Given the description of an element on the screen output the (x, y) to click on. 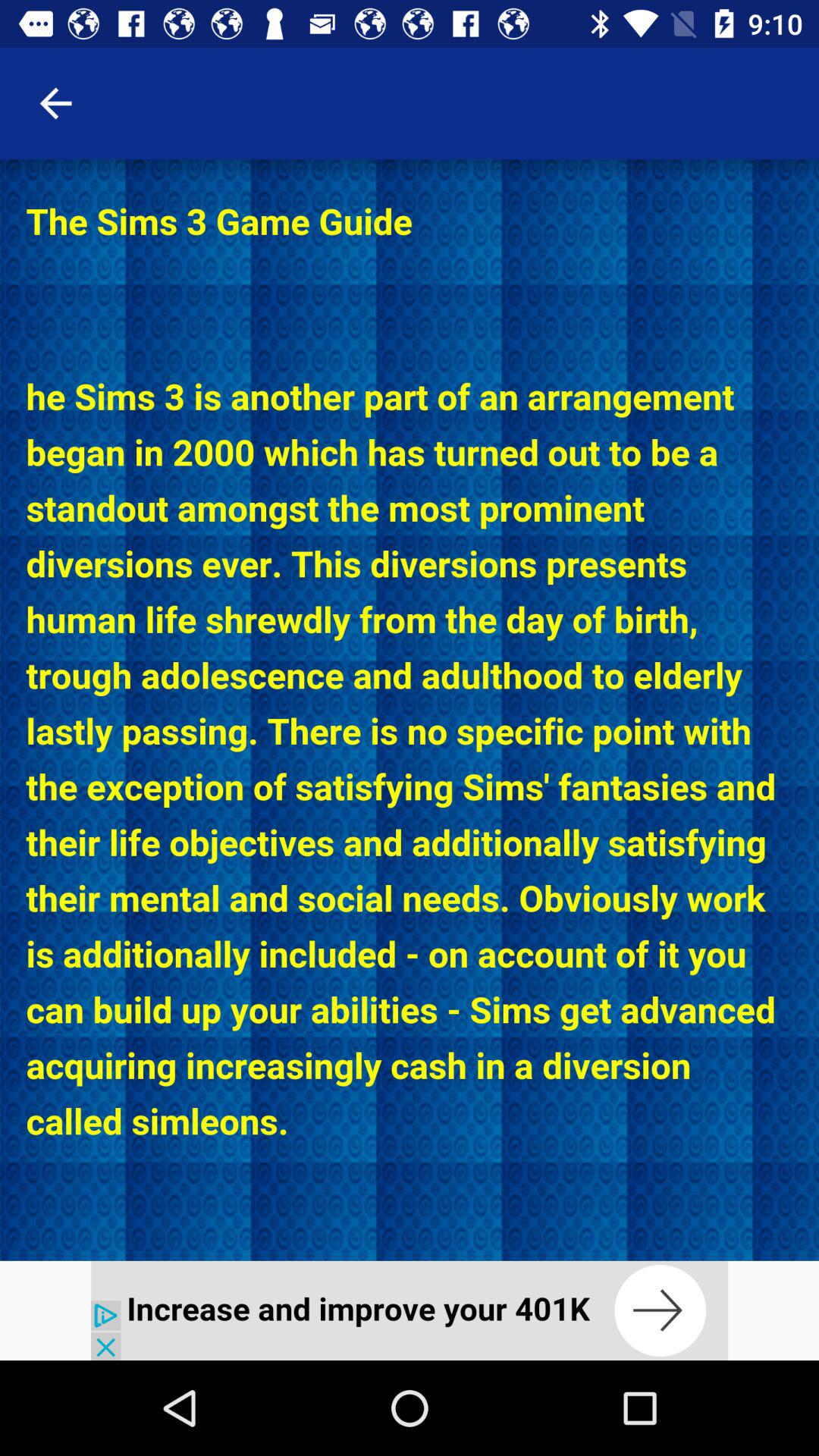
go to advertisement page (409, 1310)
